Given the description of an element on the screen output the (x, y) to click on. 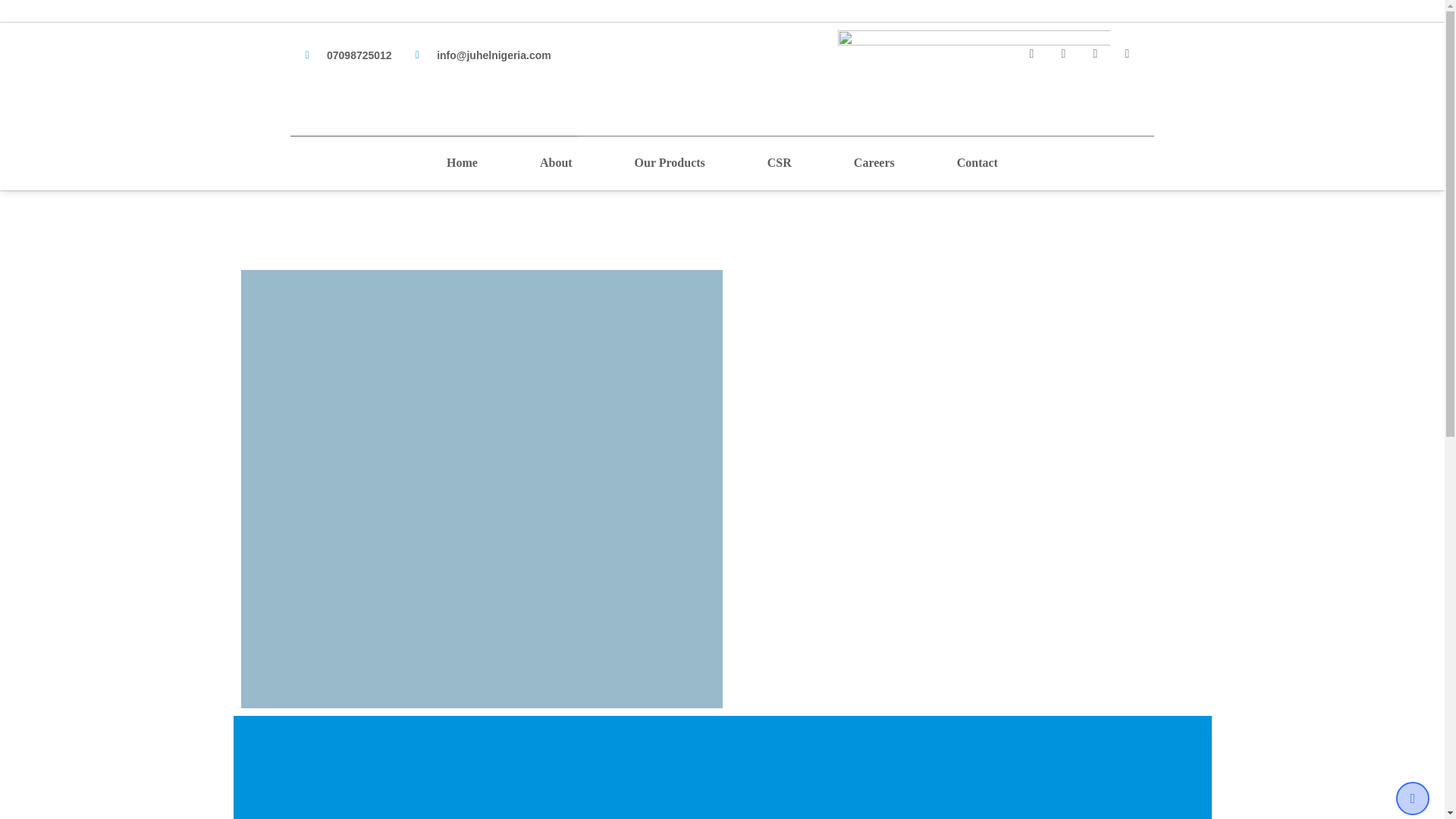
About (673, 31)
CSR (896, 31)
Home (580, 31)
Careers (991, 31)
Contact (1095, 31)
Our Products (786, 31)
